Given the description of an element on the screen output the (x, y) to click on. 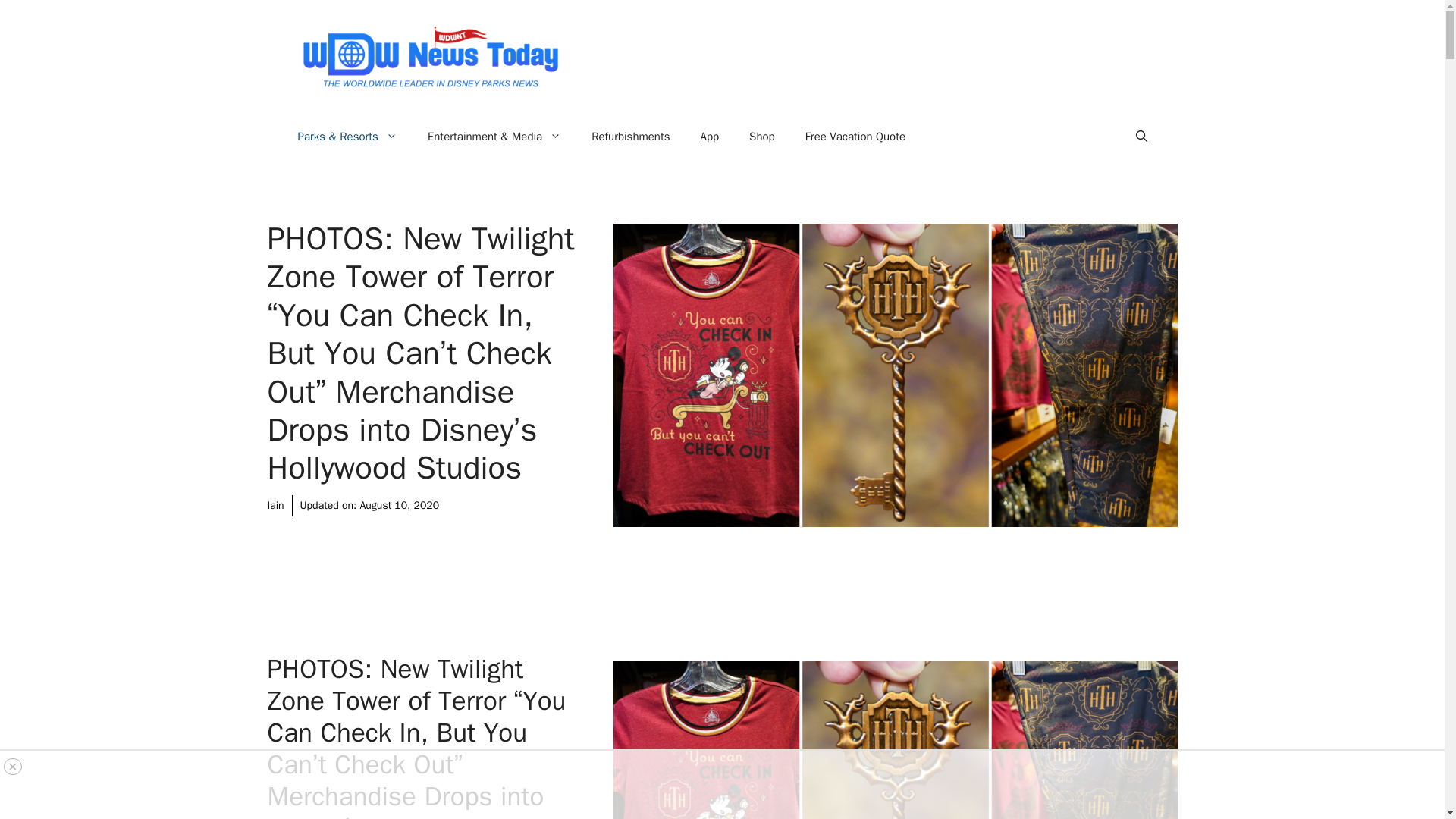
Refurbishments (630, 135)
Free Vacation Quote (855, 135)
Shop (761, 135)
App (710, 135)
Iain (274, 504)
